Given the description of an element on the screen output the (x, y) to click on. 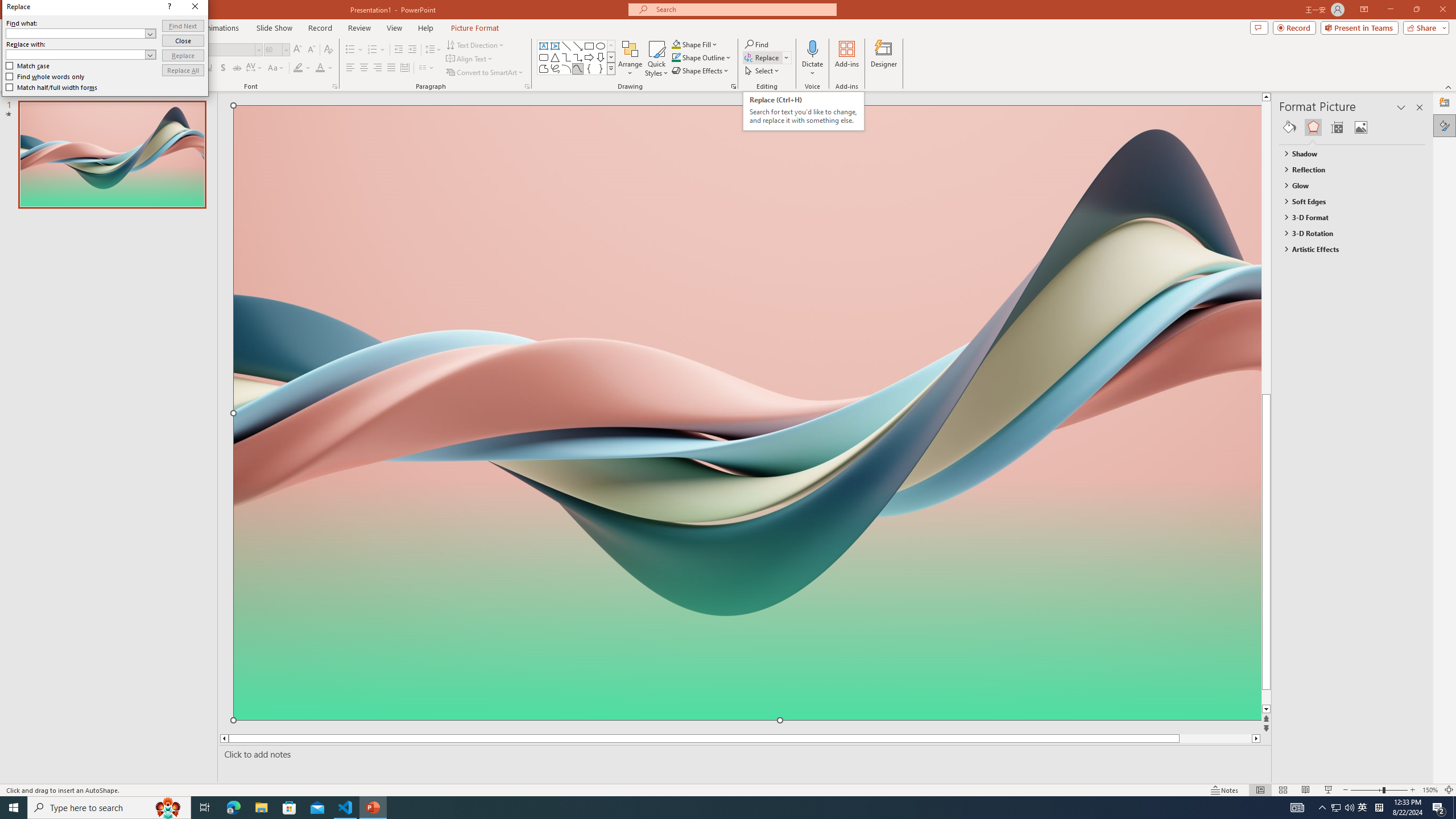
Dictate (812, 58)
Decrease Font Size (310, 49)
Zoom (1379, 790)
Slide Notes (742, 754)
AutomationID: ShapesInsertGallery (576, 57)
Quick Styles (656, 58)
Find what (75, 33)
Format Picture (1444, 125)
User Promoted Notification Area (1362, 807)
Type here to search (1342, 807)
Dictate (108, 807)
Clear Formatting (812, 48)
Normal (327, 49)
Size & Properties (1260, 790)
